Given the description of an element on the screen output the (x, y) to click on. 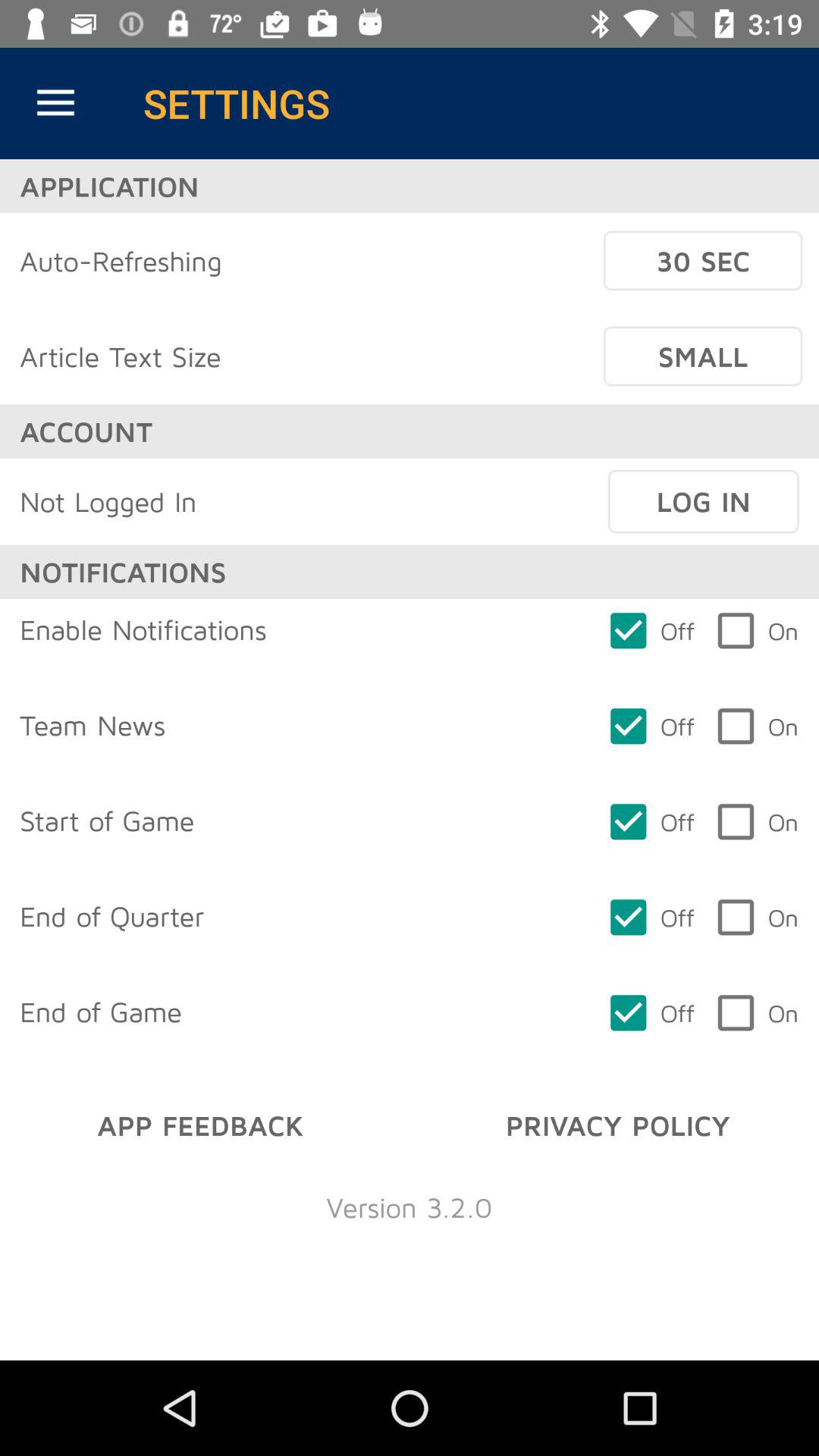
press the item below small (703, 501)
